Given the description of an element on the screen output the (x, y) to click on. 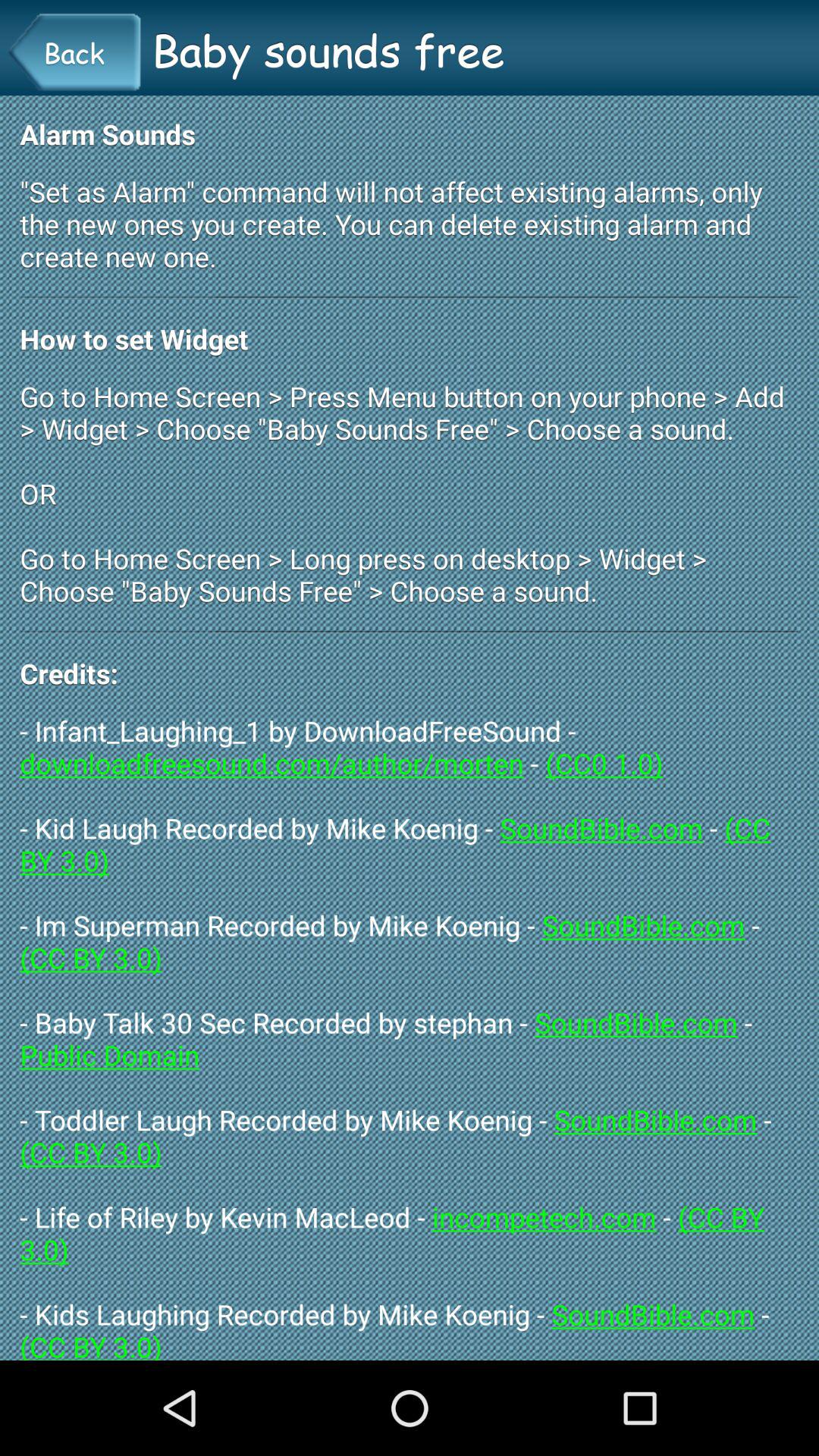
open the back button (73, 52)
